Given the description of an element on the screen output the (x, y) to click on. 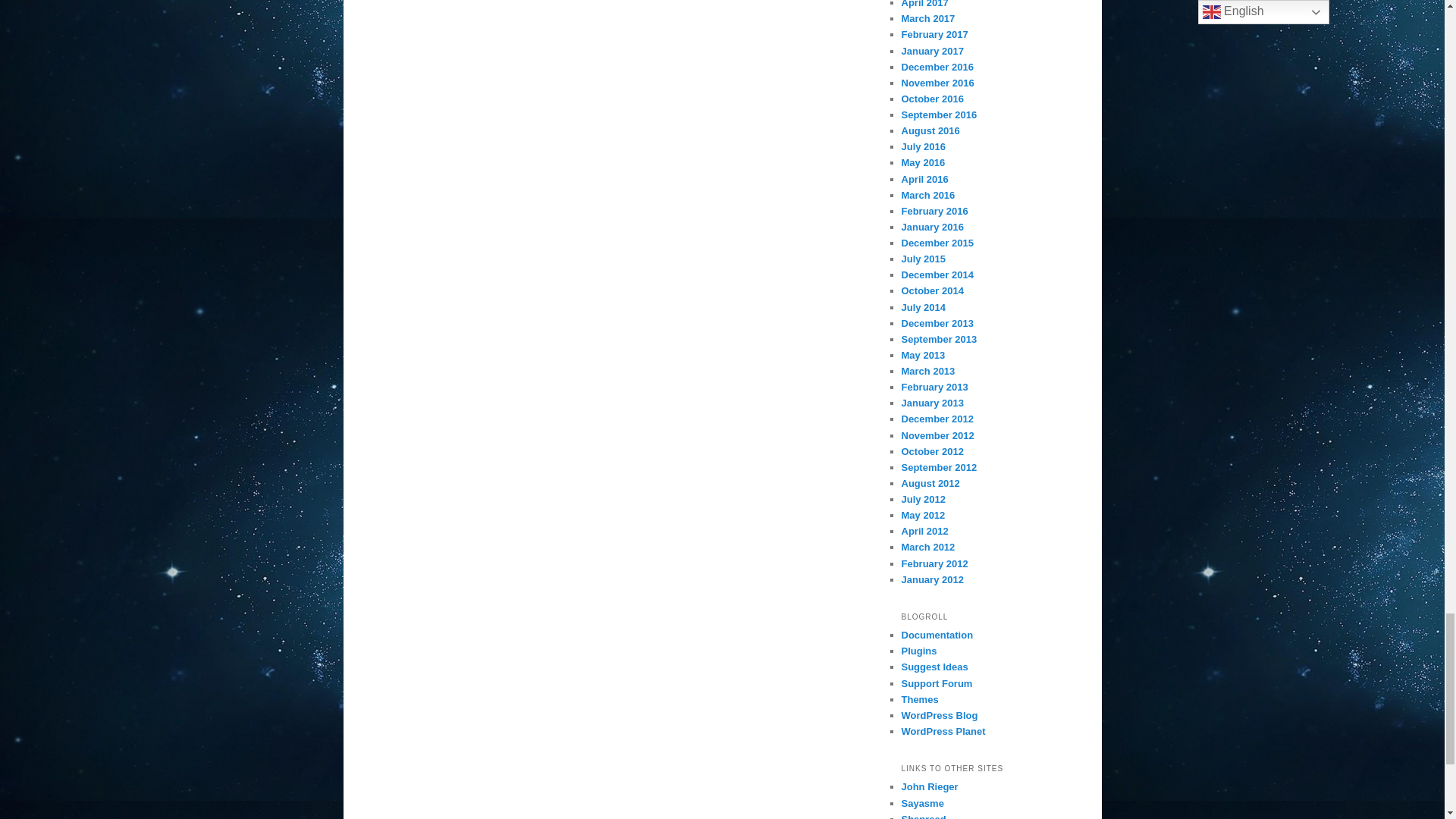
About Me (929, 786)
Blogs (922, 803)
